Given the description of an element on the screen output the (x, y) to click on. 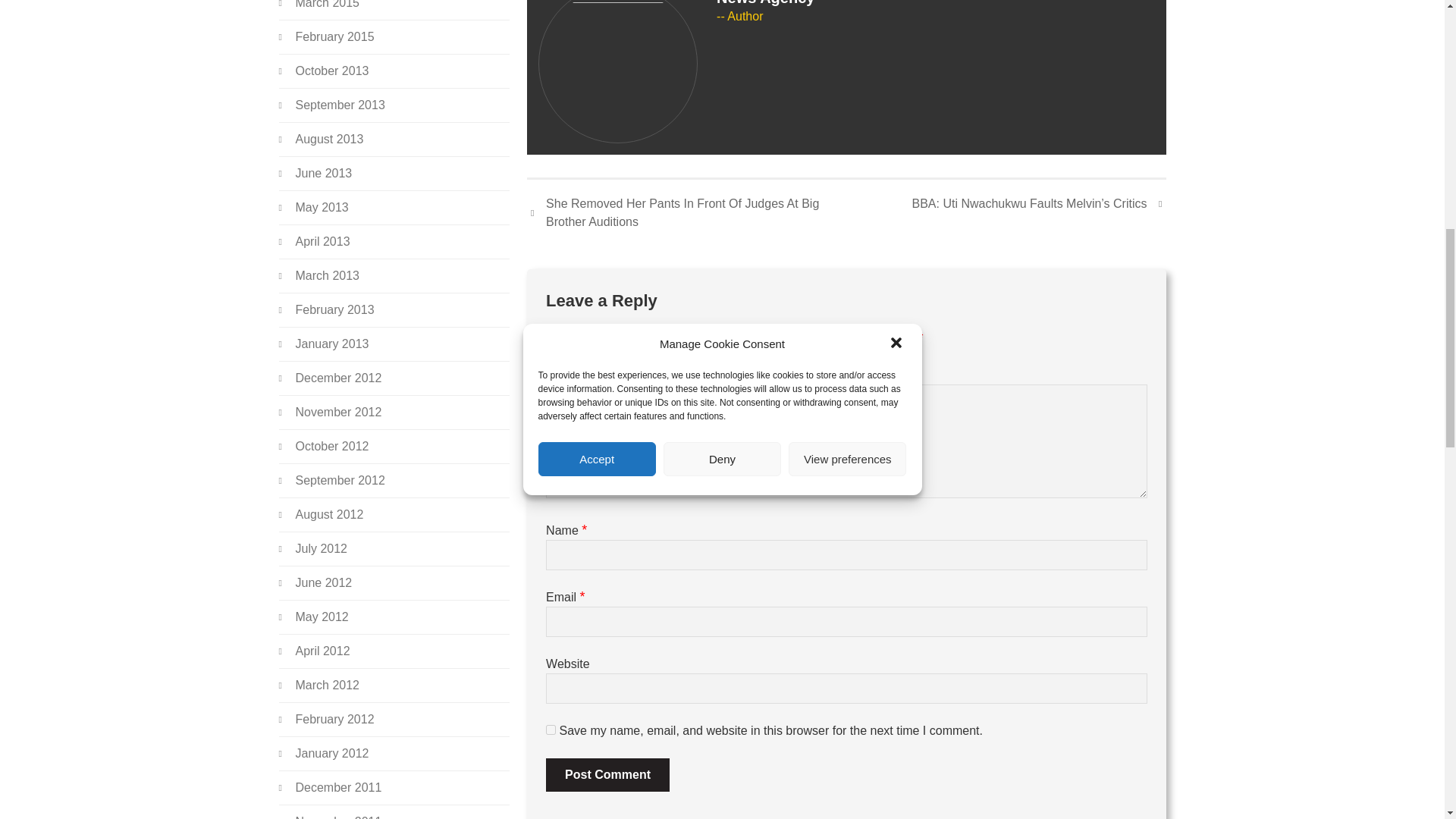
Post Comment (607, 774)
Posts by News Agency (764, 2)
yes (551, 729)
